Given the description of an element on the screen output the (x, y) to click on. 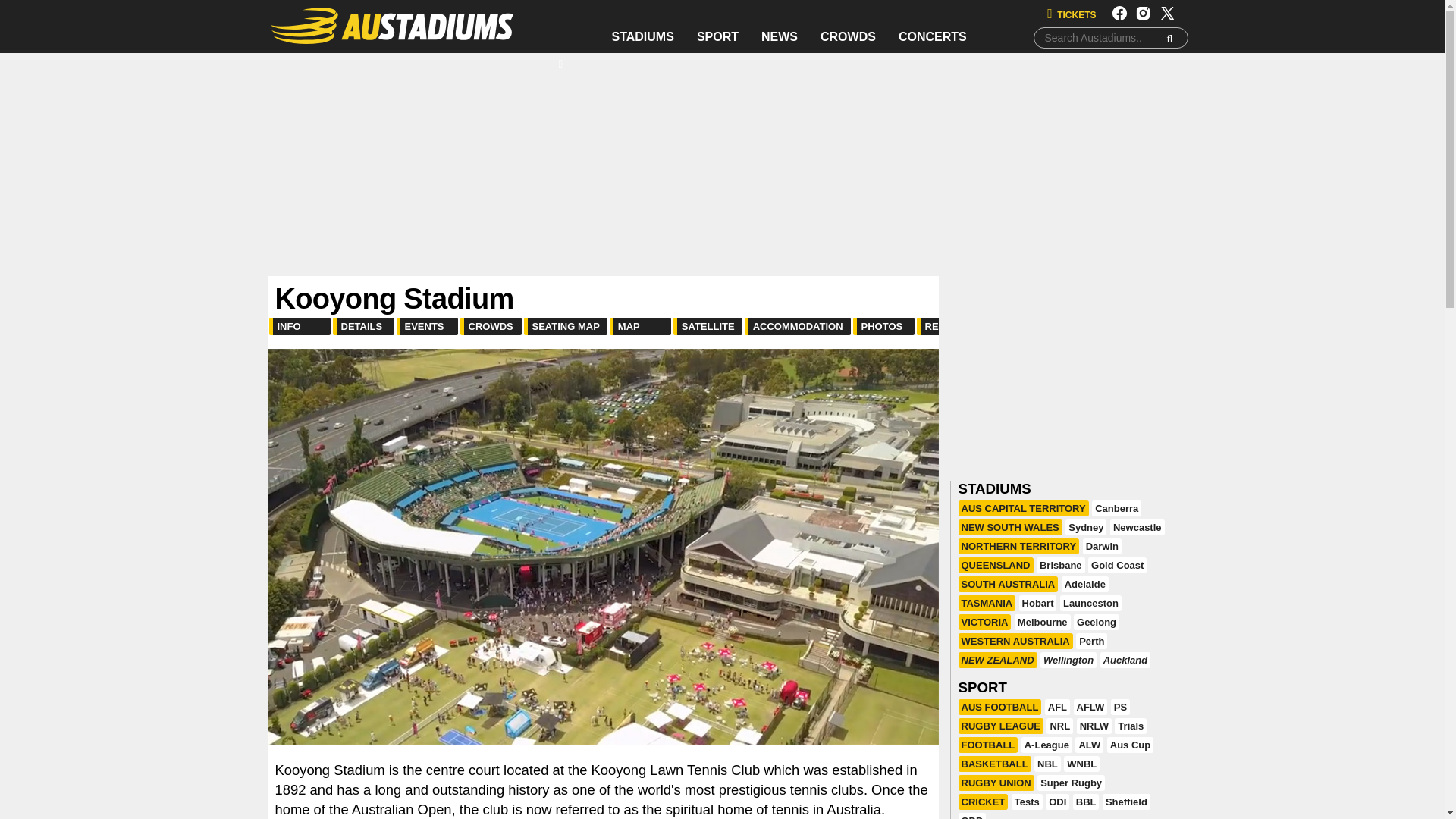
STADIUMS (642, 39)
Twitter X (1167, 17)
Facebook (1119, 17)
SPORT (717, 39)
Instagram (1142, 17)
Tickets Hub (1070, 14)
